Given the description of an element on the screen output the (x, y) to click on. 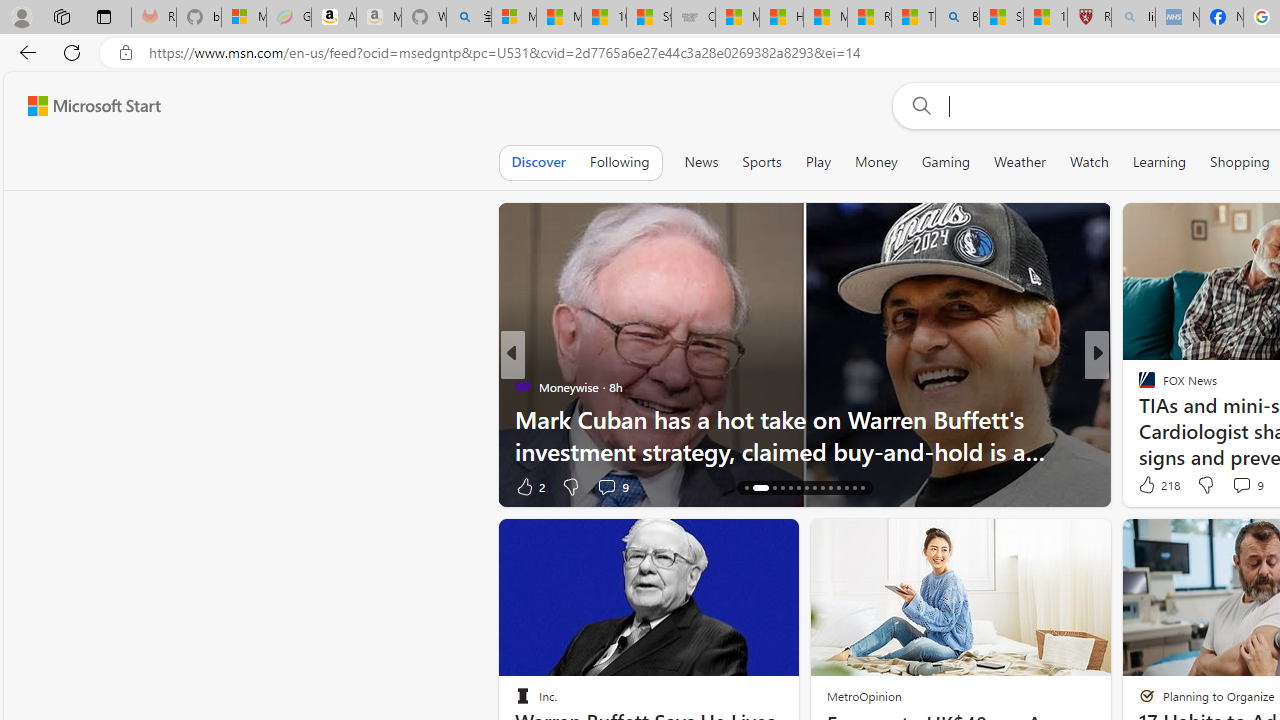
400 Like (1151, 486)
8 Like (1145, 486)
HowToGeek (1138, 418)
